Given the description of an element on the screen output the (x, y) to click on. 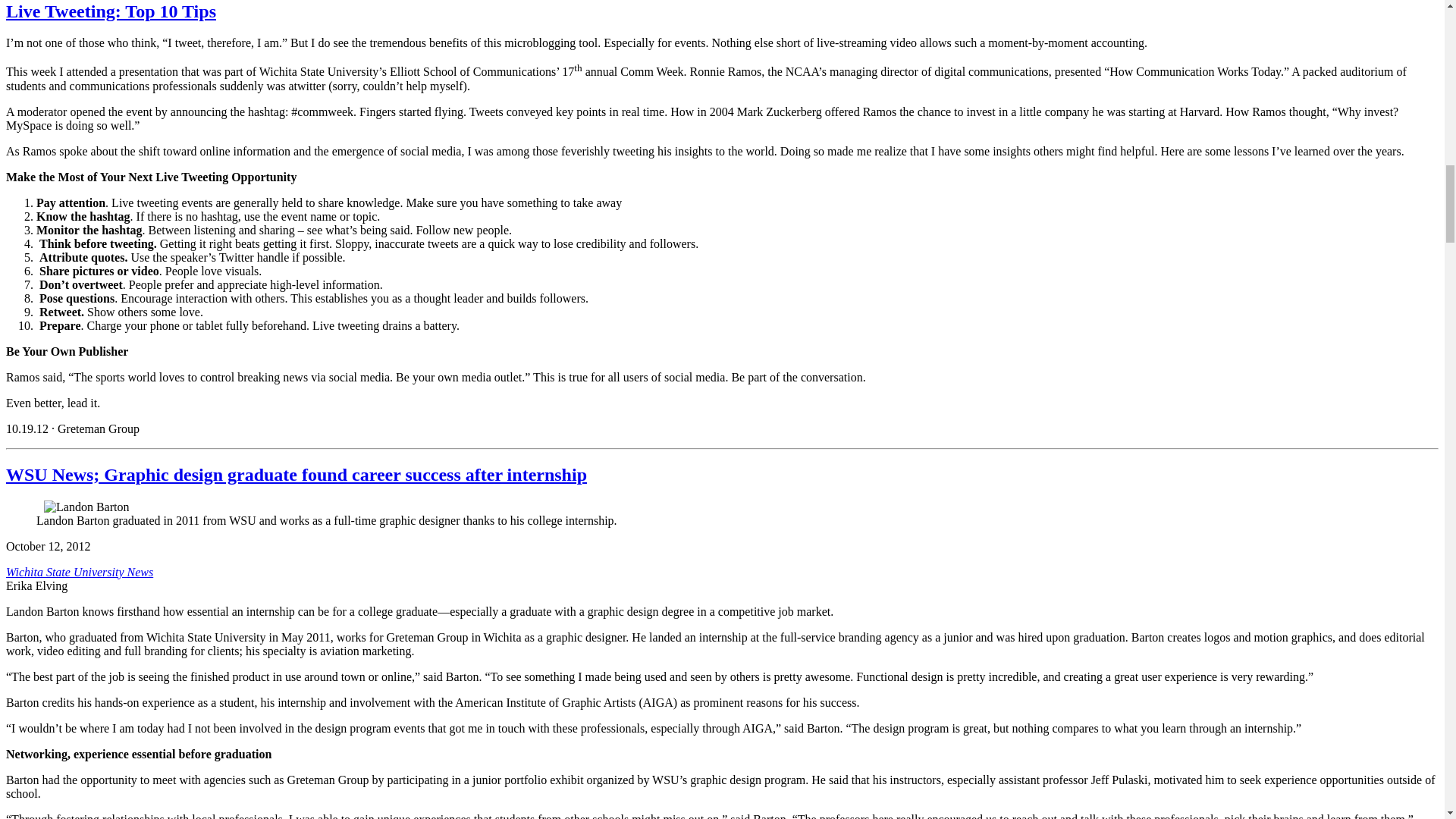
Landon Barton (86, 507)
